Given the description of an element on the screen output the (x, y) to click on. 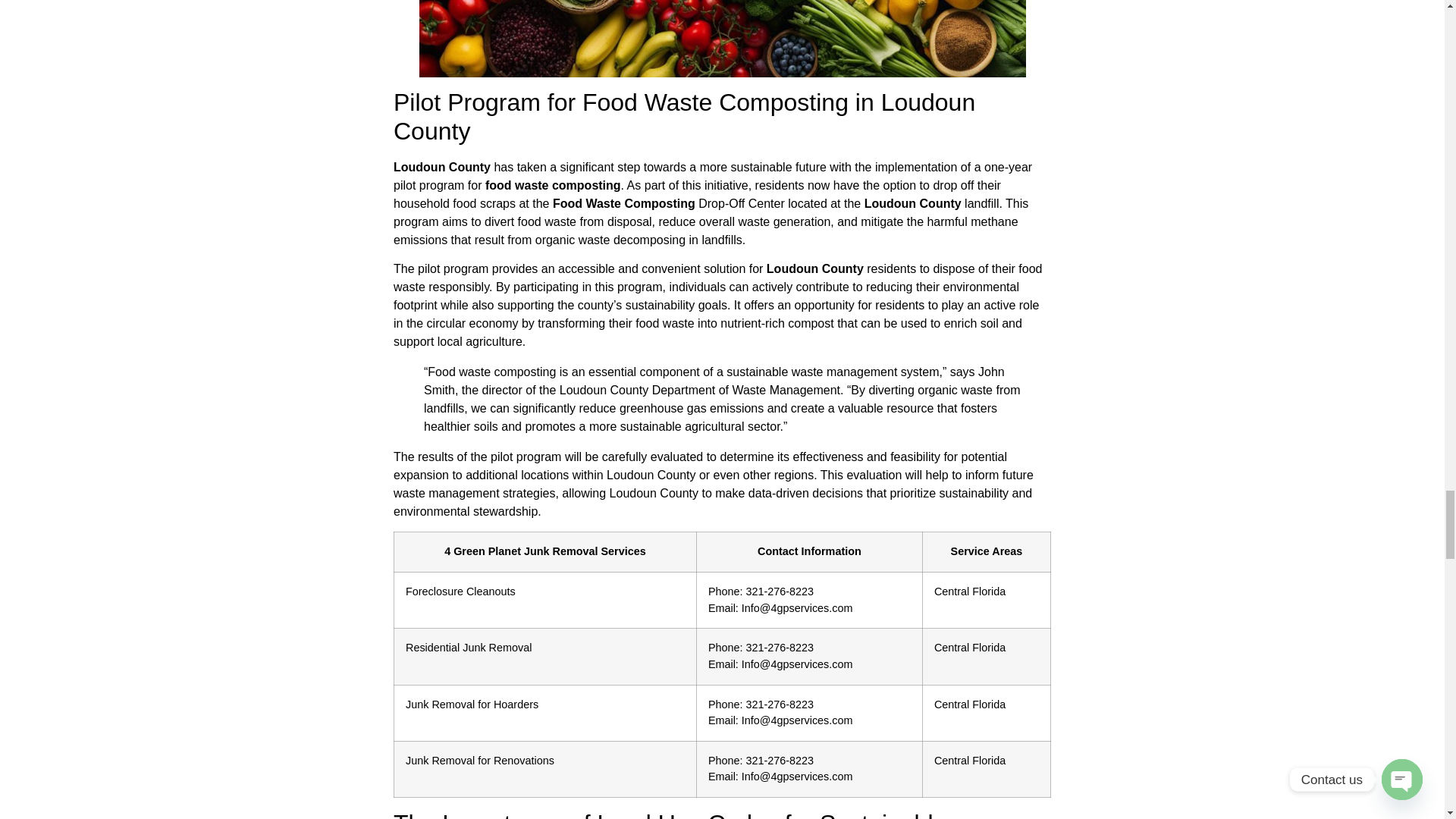
Food Systems (722, 38)
